Given the description of an element on the screen output the (x, y) to click on. 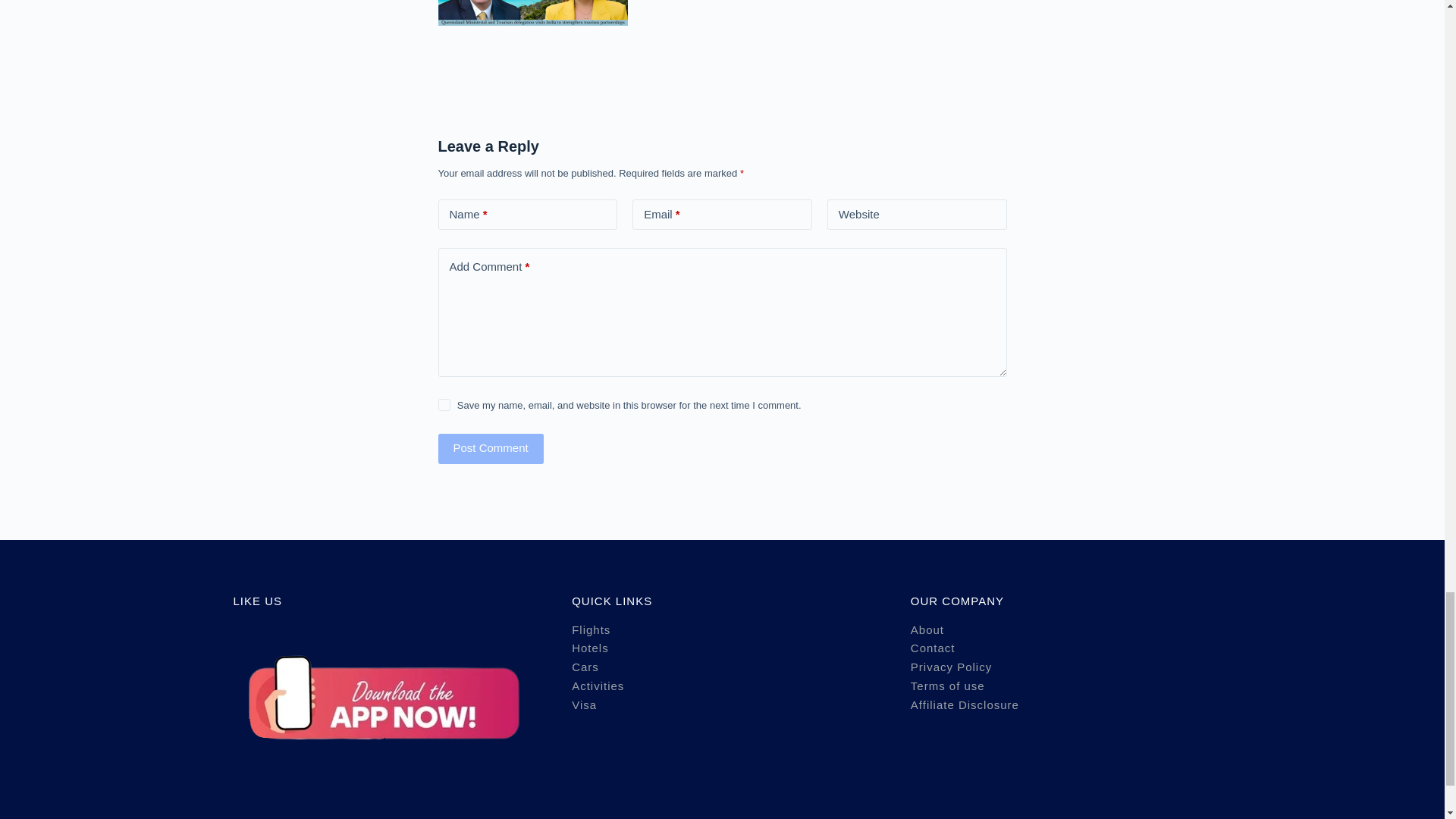
yes (443, 404)
